Given the description of an element on the screen output the (x, y) to click on. 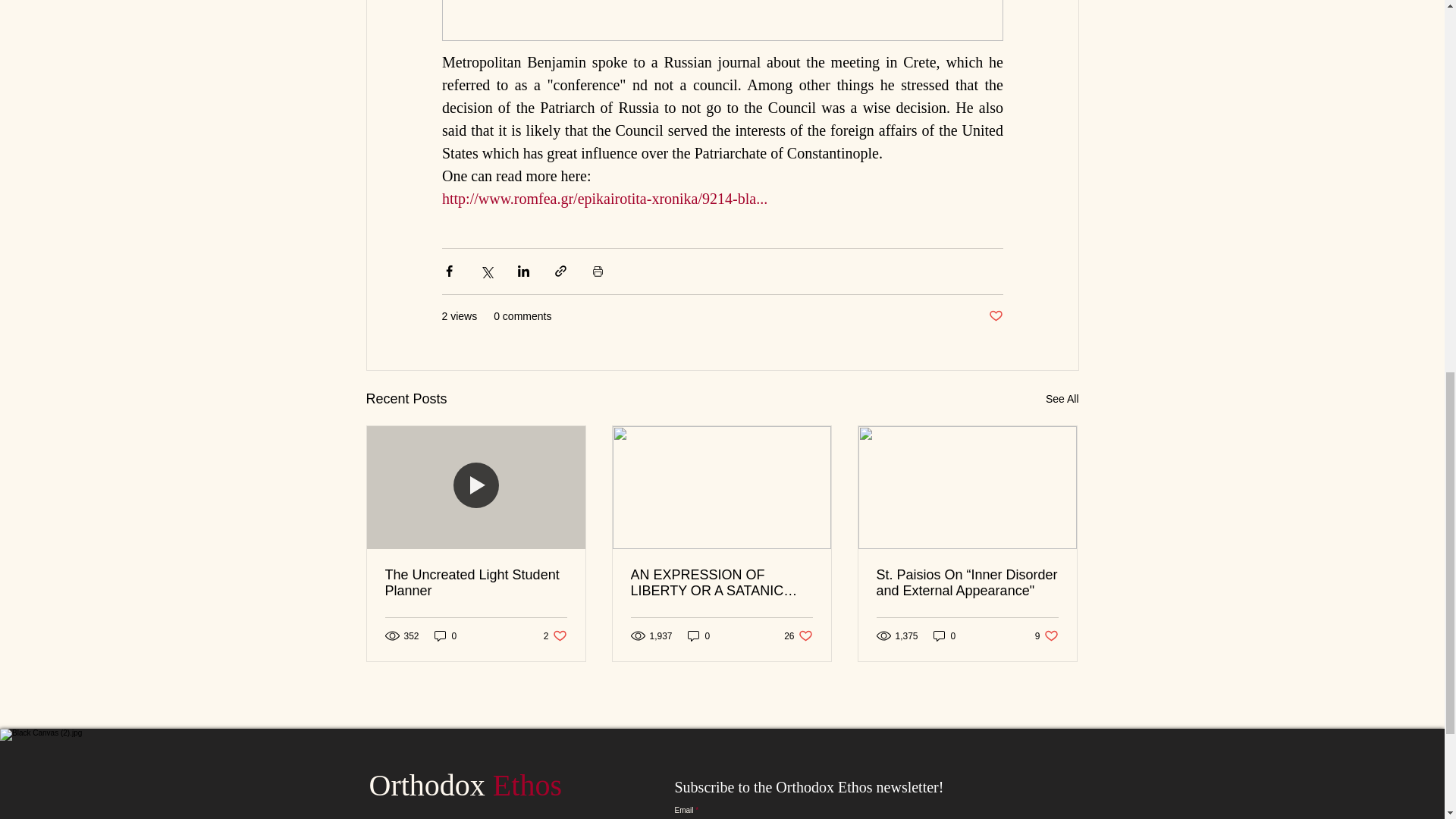
See All (1061, 399)
AN EXPRESSION OF LIBERTY OR A SATANIC BALL? (721, 582)
Post not marked as liked (995, 316)
The Uncreated Light Student Planner (476, 582)
0 (698, 635)
0 (944, 635)
0 (555, 635)
